Given the description of an element on the screen output the (x, y) to click on. 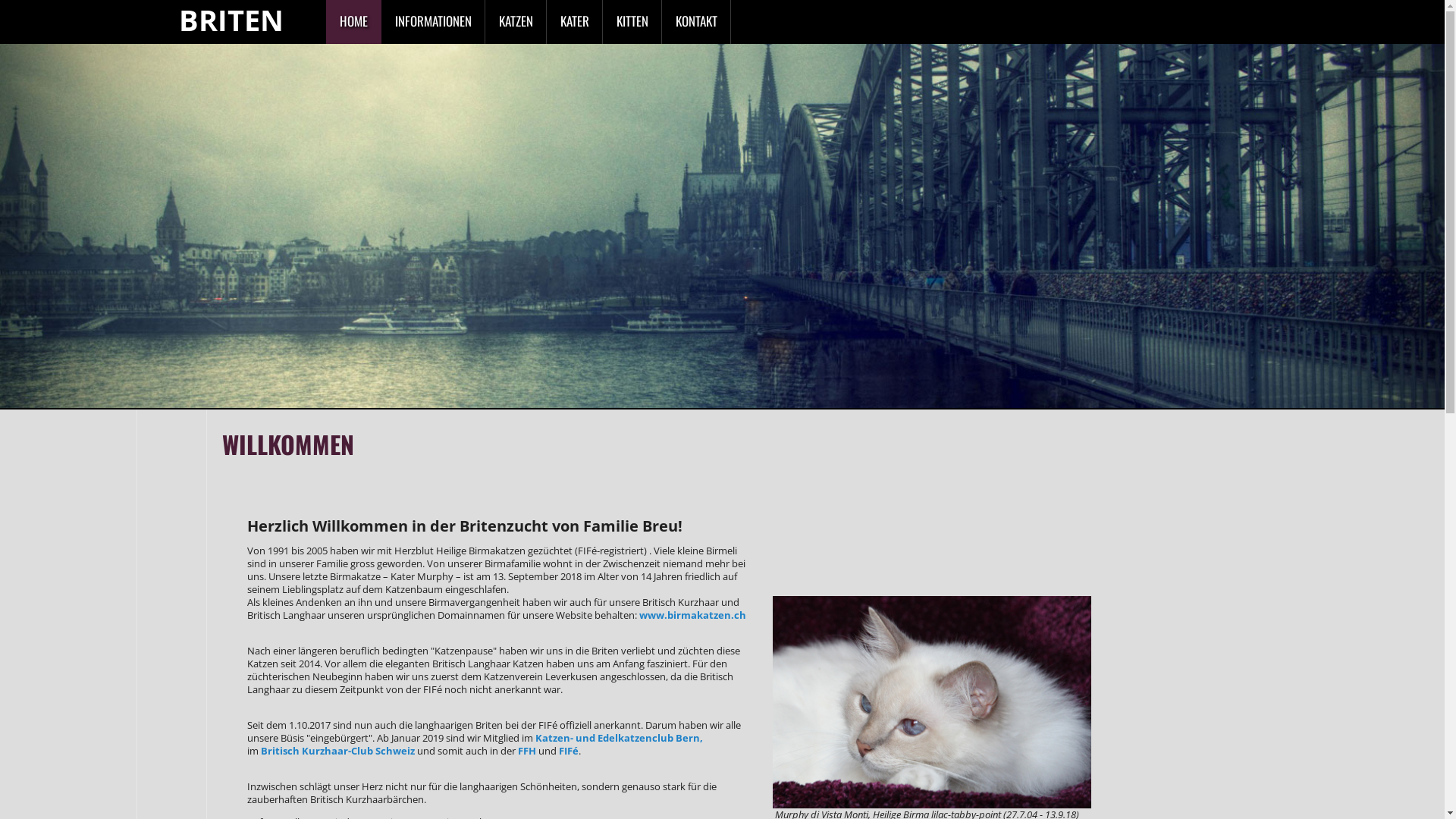
KITTEN Element type: text (632, 21)
INFORMATIONEN Element type: text (433, 21)
HOME Element type: text (353, 21)
KATER Element type: text (574, 21)
KONTAKT Element type: text (696, 21)
Britisch Kurzhaar-Club Schweiz Element type: text (337, 750)
FFH Element type: text (526, 750)
www.birmakatzen.ch Element type: text (692, 614)
Katzen- und Edelkatzenclub Bern, Element type: text (618, 737)
KATZEN Element type: text (515, 21)
BRITEN Element type: text (230, 19)
